Given the description of an element on the screen output the (x, y) to click on. 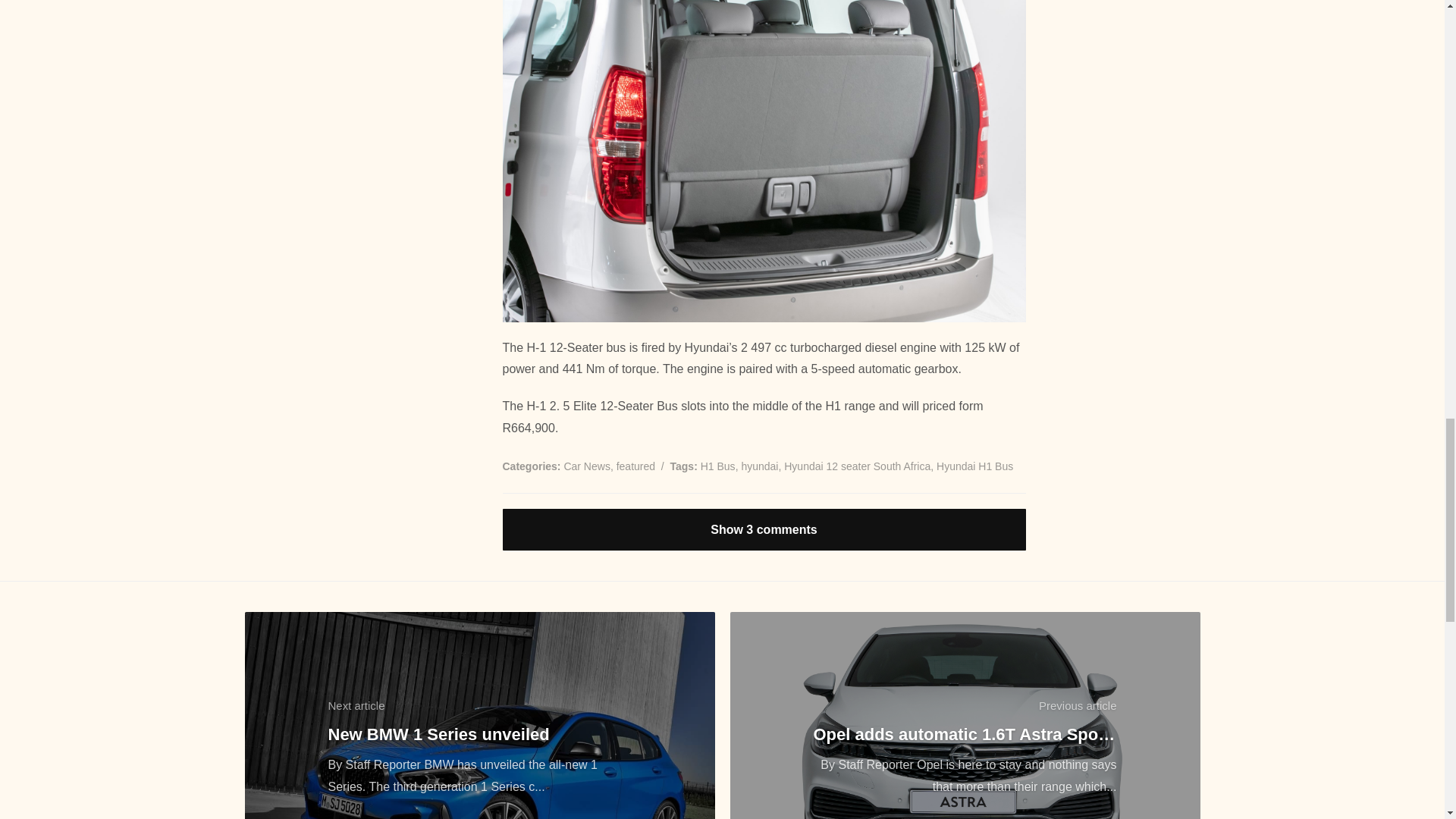
H1 Bus (717, 466)
Car News (586, 466)
featured (635, 466)
